Given the description of an element on the screen output the (x, y) to click on. 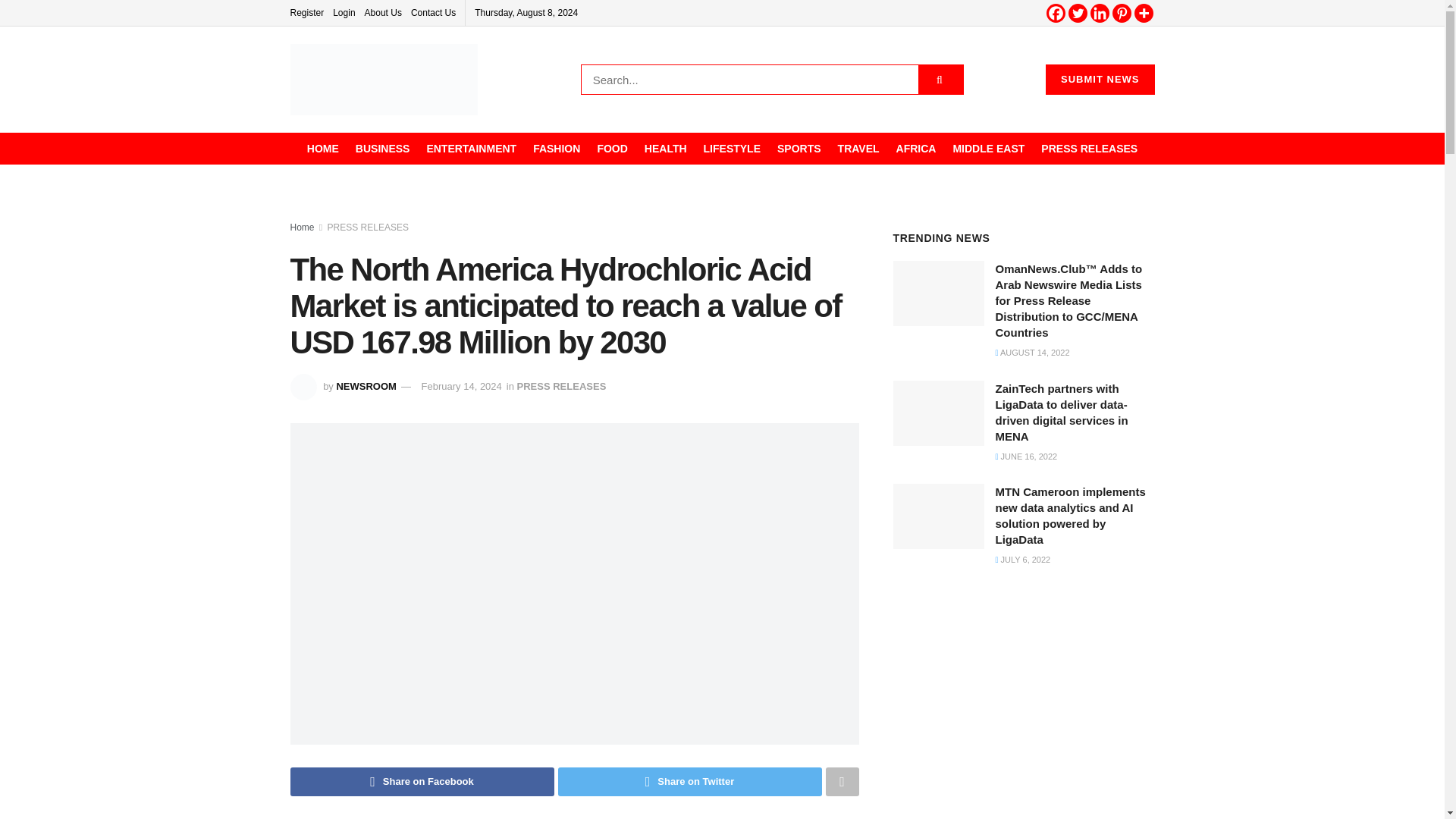
TRAVEL (858, 148)
ENTERTAINMENT (471, 148)
Facebook (1055, 13)
MIDDLE EAST (988, 148)
Contact Us (432, 12)
Twitter (1076, 13)
AFRICA (916, 148)
Pinterest (1121, 13)
FASHION (555, 148)
PRESS RELEASES (1089, 148)
